Given the description of an element on the screen output the (x, y) to click on. 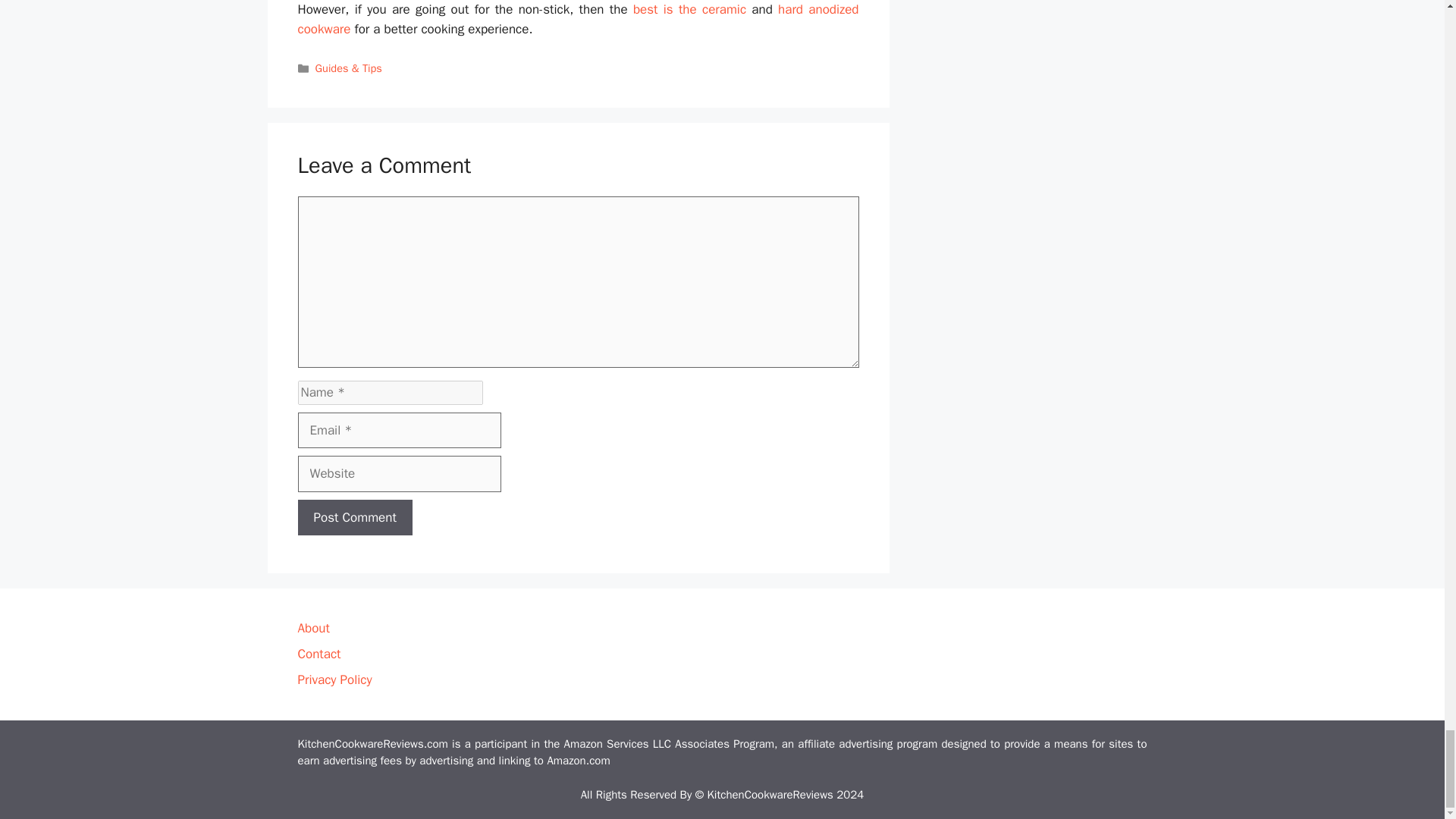
Post Comment (354, 517)
